Given the description of an element on the screen output the (x, y) to click on. 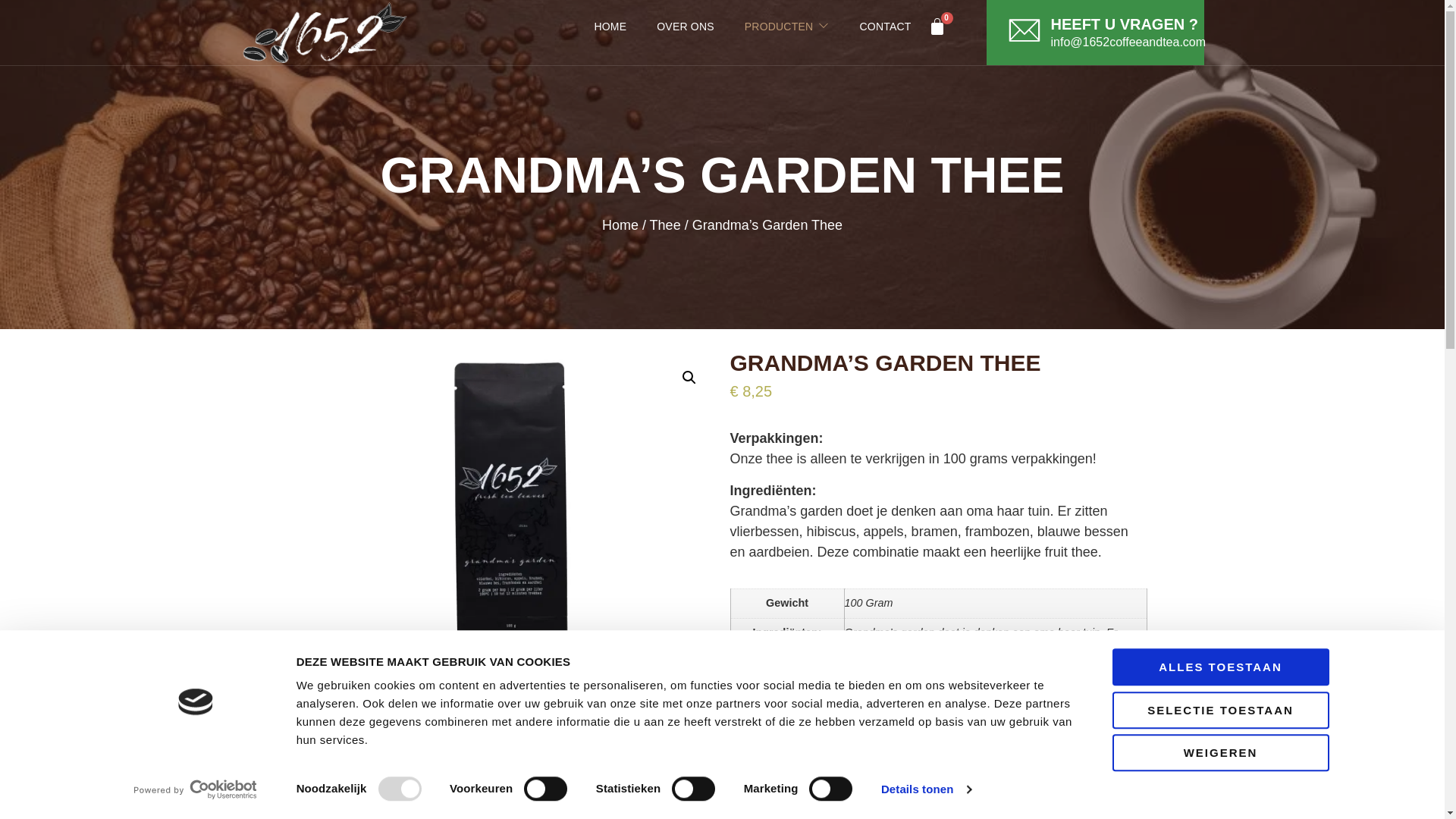
TOEVOEGEN AAN WINKELWAGEN Element type: text (914, 748)
0 Element type: text (937, 26)
Details tonen Element type: text (926, 789)
Home Element type: text (620, 224)
HEEFT U VRAGEN ? Element type: text (1124, 23)
ALLES TOESTAAN Element type: text (1219, 666)
Thee Element type: text (664, 224)
Grandma's Garden Thee Element type: hover (505, 508)
SELECTIE TOESTAAN Element type: text (1219, 709)
WEIGEREN Element type: text (1219, 752)
